Given the description of an element on the screen output the (x, y) to click on. 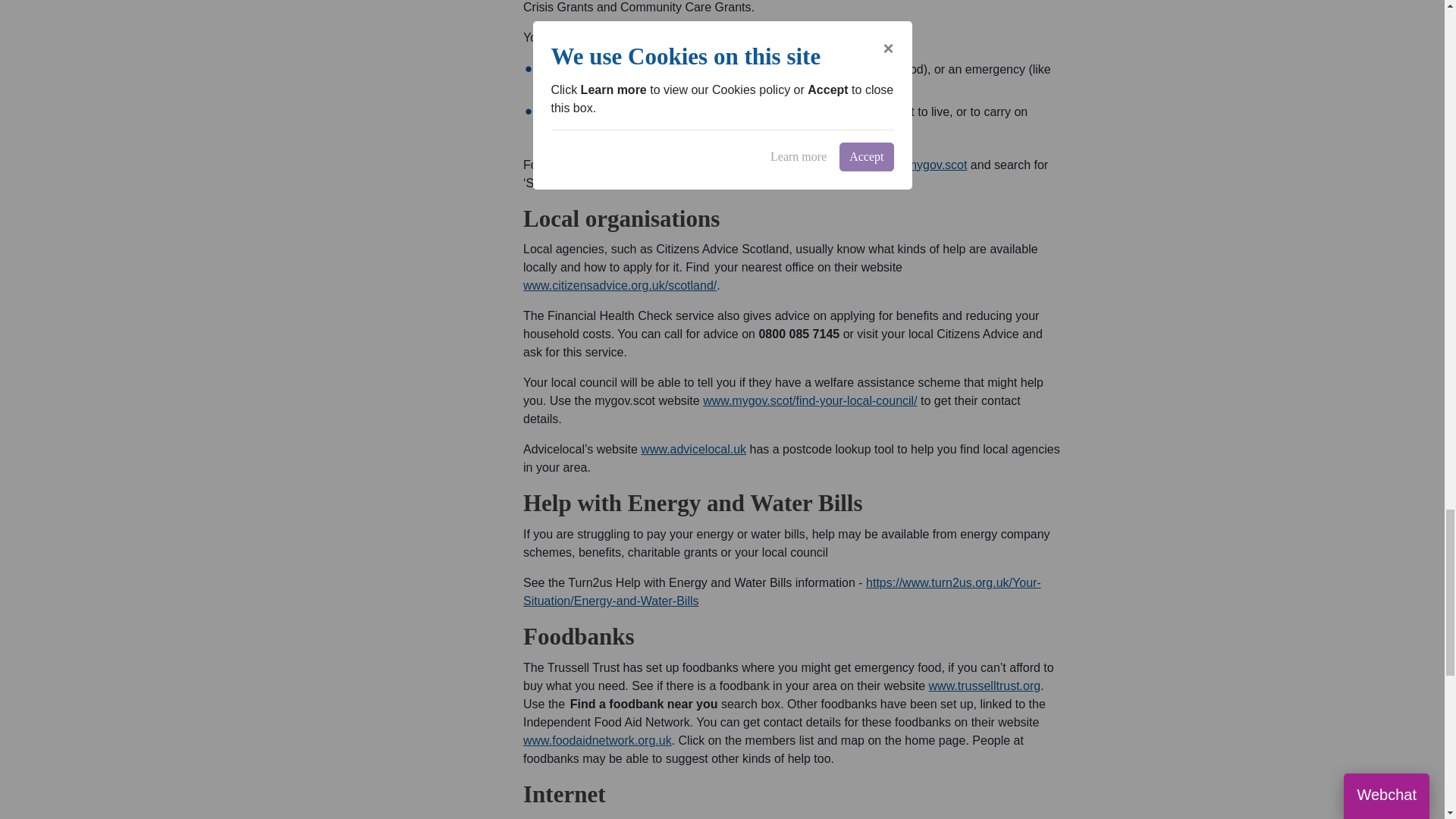
www.trusselltrust.org (984, 685)
www.advicelocal.uk (692, 449)
www.mygov.scot (921, 164)
